Given the description of an element on the screen output the (x, y) to click on. 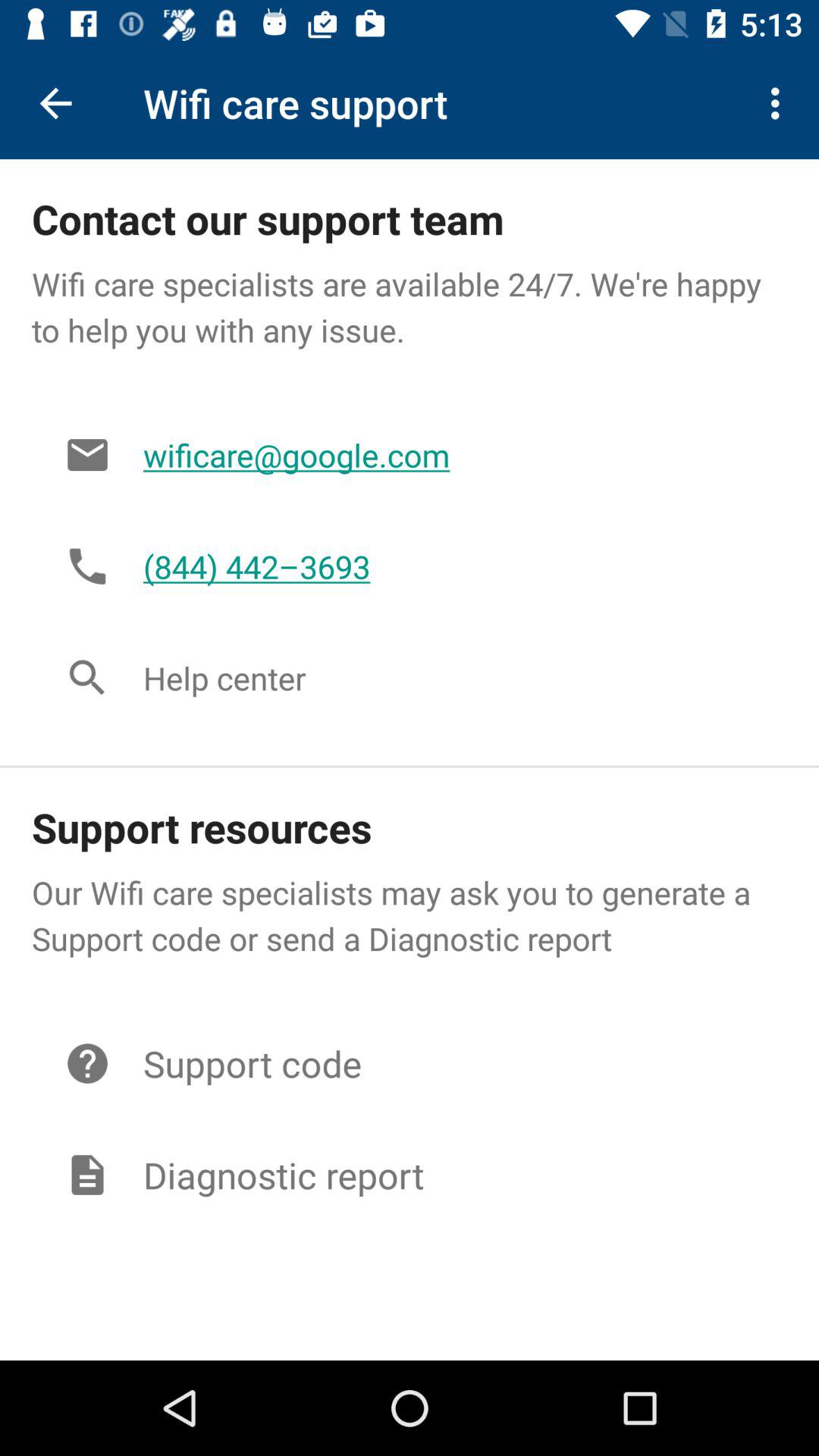
open the item below wificare@google.com (449, 566)
